Given the description of an element on the screen output the (x, y) to click on. 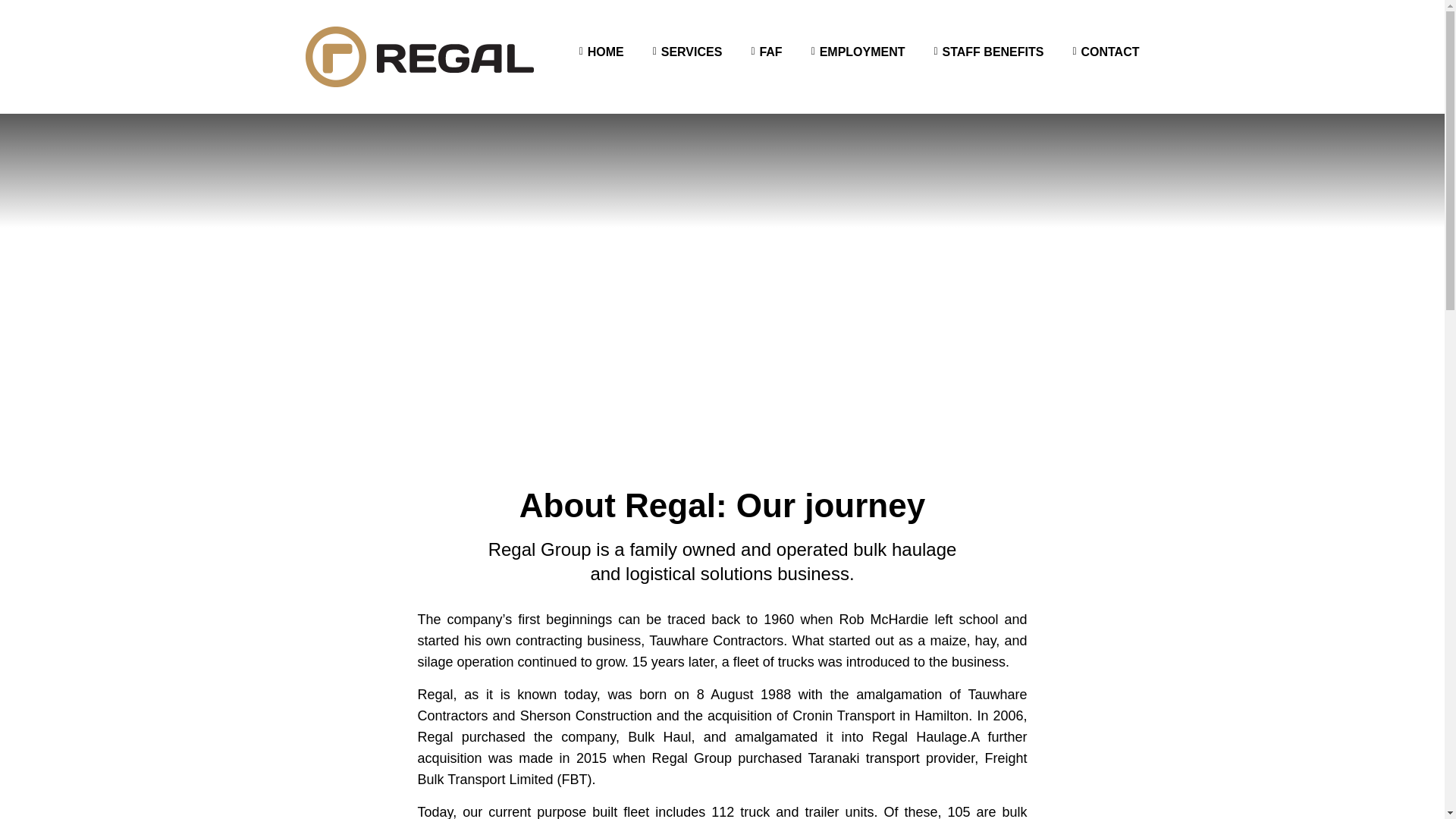
Home (606, 52)
HOME (606, 52)
Employment (862, 52)
SERVICES (691, 52)
Regal (418, 56)
CONTACT (1109, 52)
EMPLOYMENT (862, 52)
FAF (769, 52)
STAFF BENEFITS (992, 52)
